Given the description of an element on the screen output the (x, y) to click on. 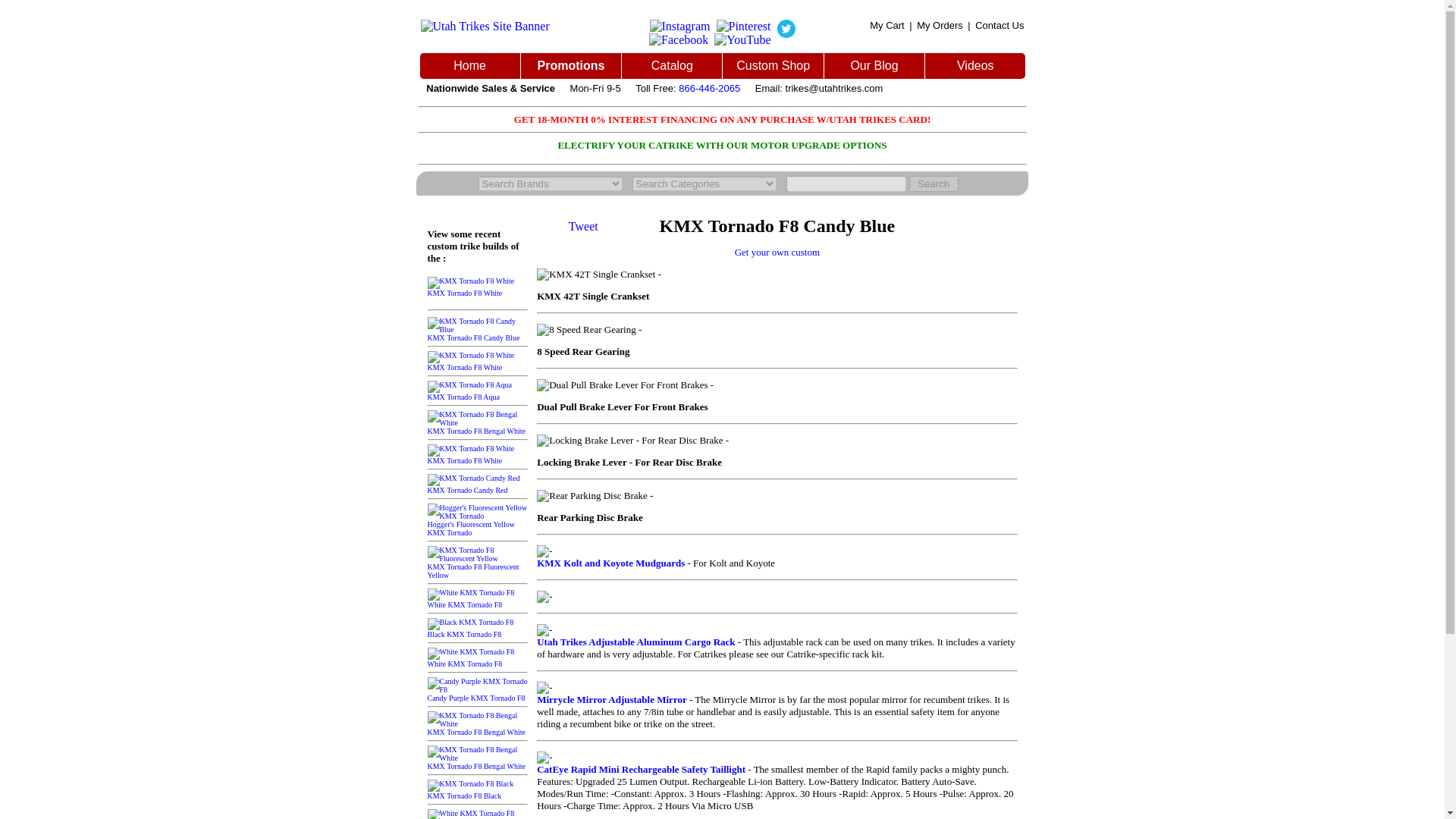
KMX Tornado F8 Bengal White (478, 426)
Videos (975, 65)
ELECTRIFY YOUR CATRIKE WITH OUR MOTOR UPGRADE OPTIONS (721, 144)
Our Blog (874, 65)
Hogger's Fluorescent Yellow KMX Tornado (478, 524)
Candy Purple KMX Tornado F8 (478, 693)
Contact Us (999, 25)
White KMX Tornado F8 (471, 657)
Custom Shop (772, 65)
KMX Tornado F8 Candy Blue (478, 333)
